Given the description of an element on the screen output the (x, y) to click on. 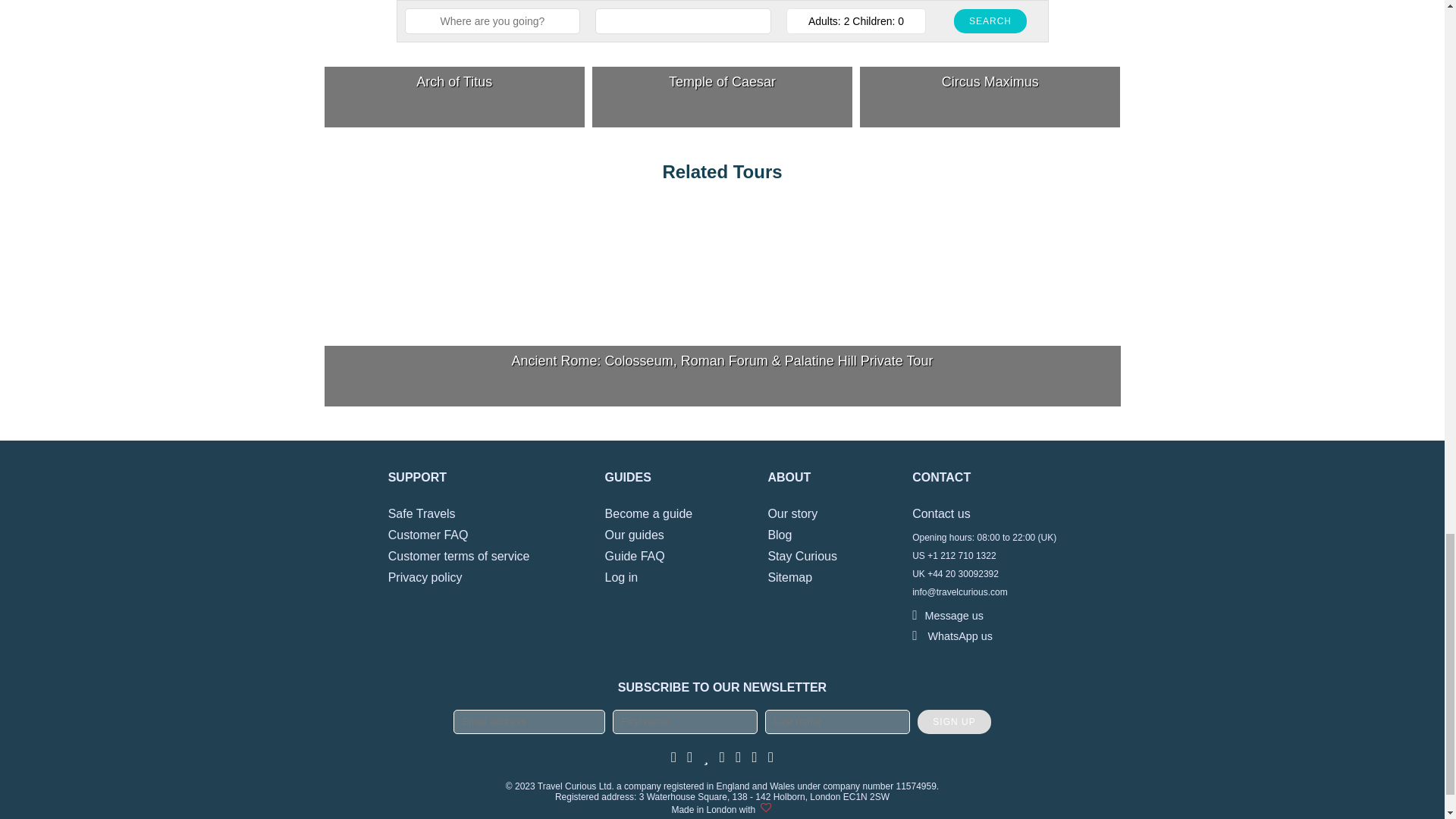
Customer terms of service (458, 555)
Arch of Titus (454, 63)
Circus Maximus (989, 63)
Become a guide (649, 513)
Privacy policy (425, 576)
Temple of Caesar (721, 63)
Safe Travels (421, 513)
Customer FAQ (428, 534)
